Given the description of an element on the screen output the (x, y) to click on. 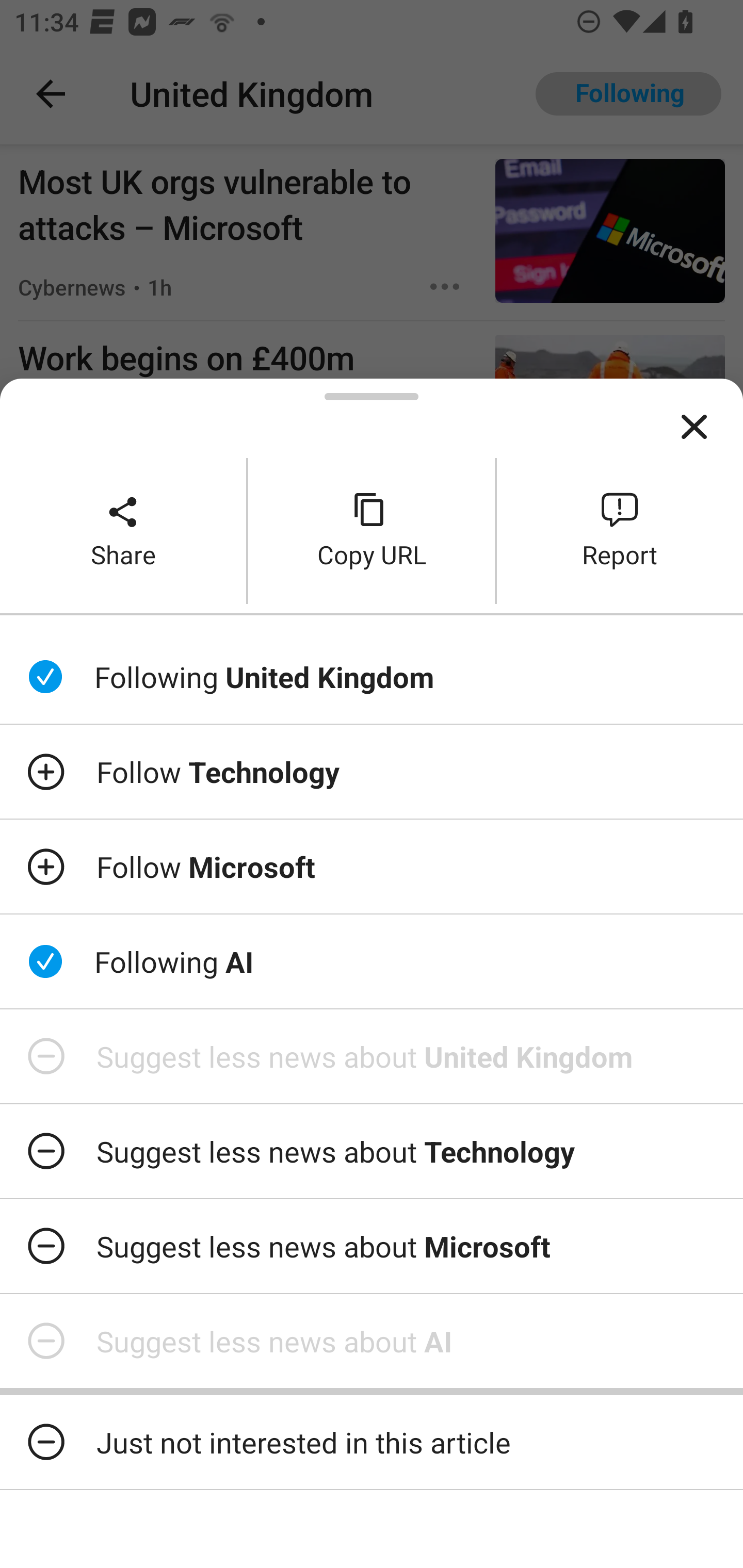
Close (694, 426)
Share (122, 530)
Copy URL (371, 530)
Report (620, 530)
Following United Kingdom (371, 677)
Follow Technology (371, 771)
Follow Microsoft (371, 867)
Following AI (371, 961)
Suggest less news about Technology (371, 1150)
Suggest less news about Microsoft (371, 1246)
Suggest less news about AI (371, 1340)
Just not interested in this article (371, 1442)
